Given the description of an element on the screen output the (x, y) to click on. 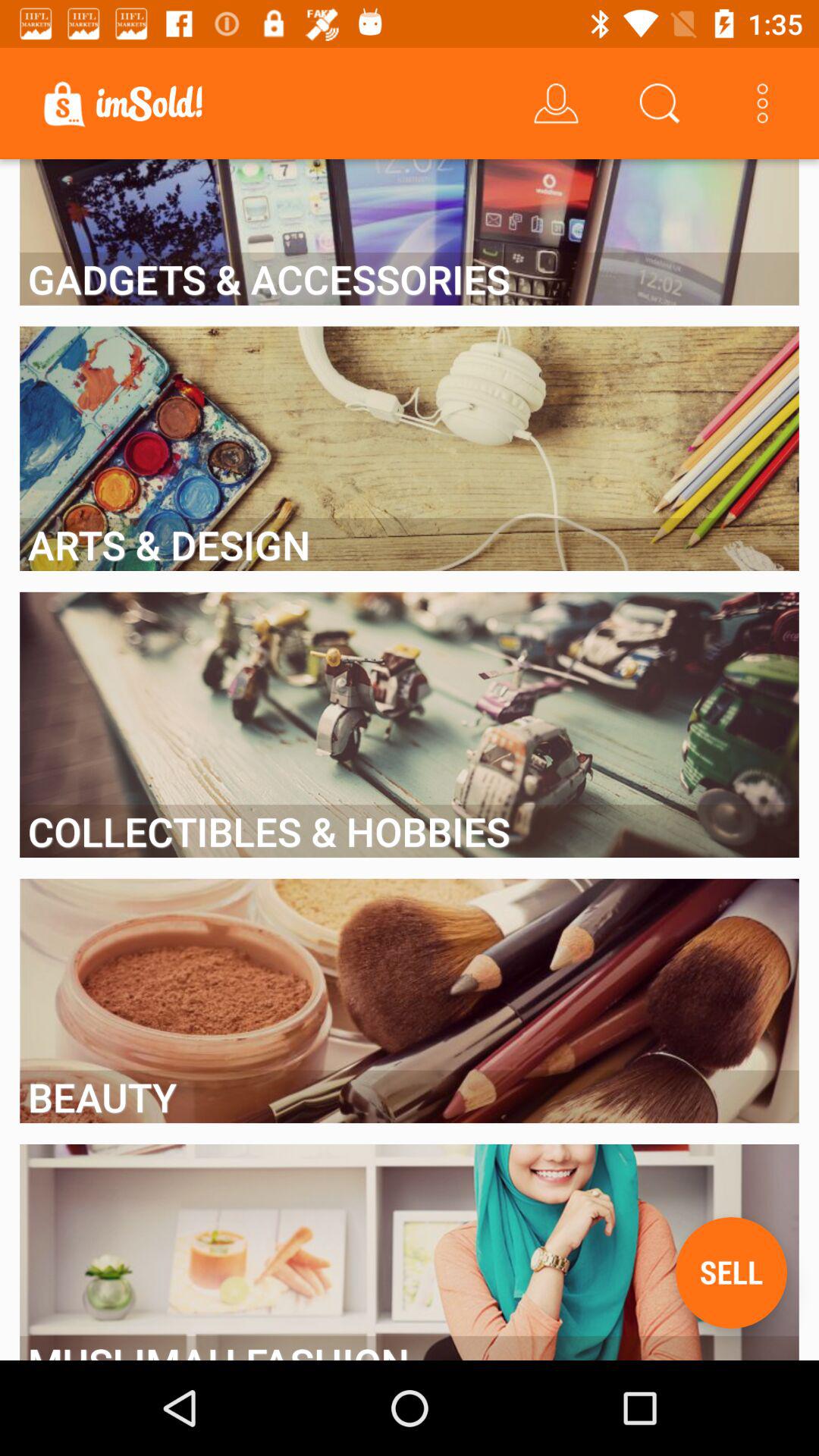
swipe to arts & design (409, 544)
